Given the description of an element on the screen output the (x, y) to click on. 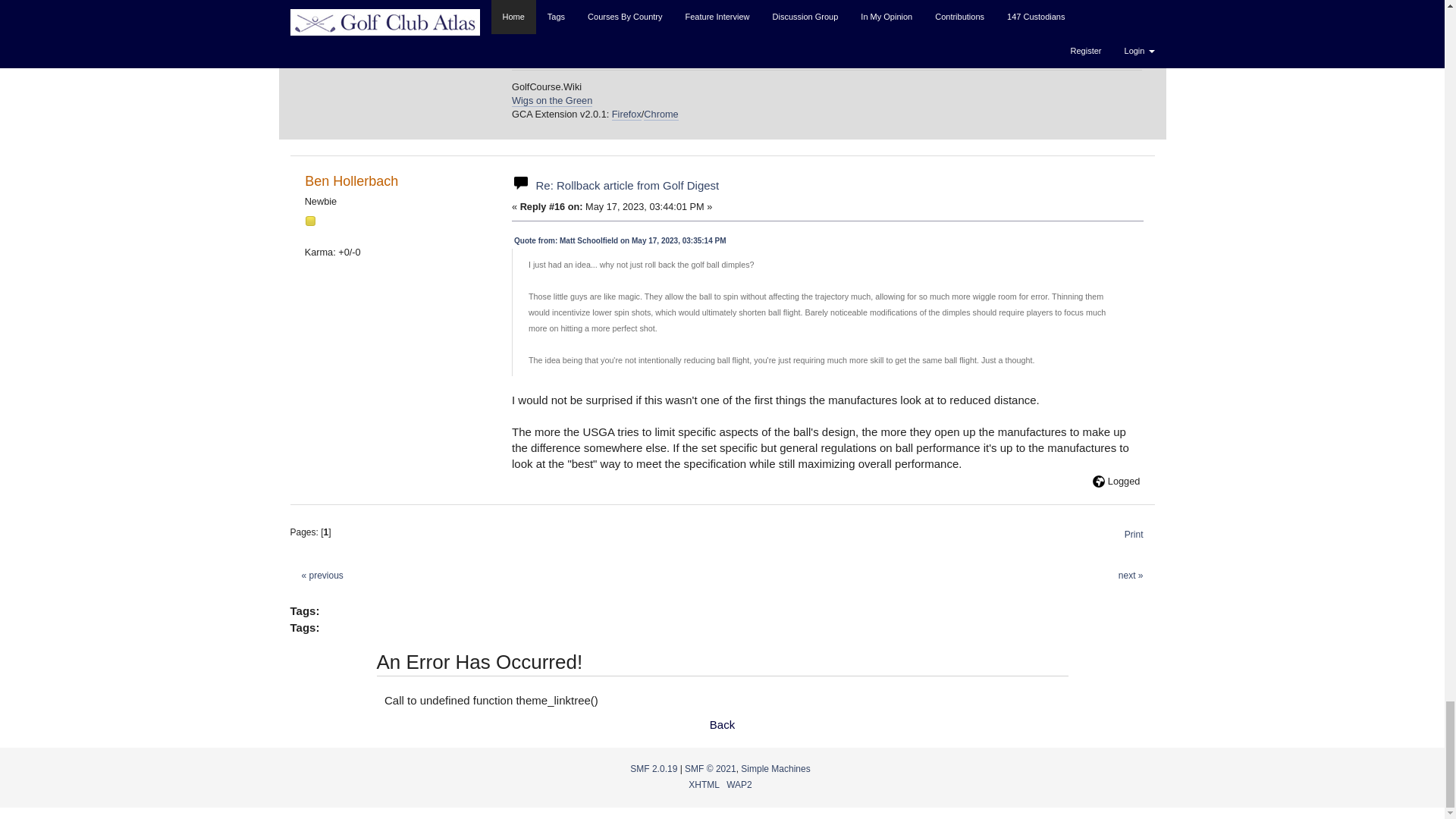
License (710, 768)
Valid XHTML 1.0! (703, 784)
Simple Machines (775, 768)
Simple Machines Forum (653, 768)
